Given the description of an element on the screen output the (x, y) to click on. 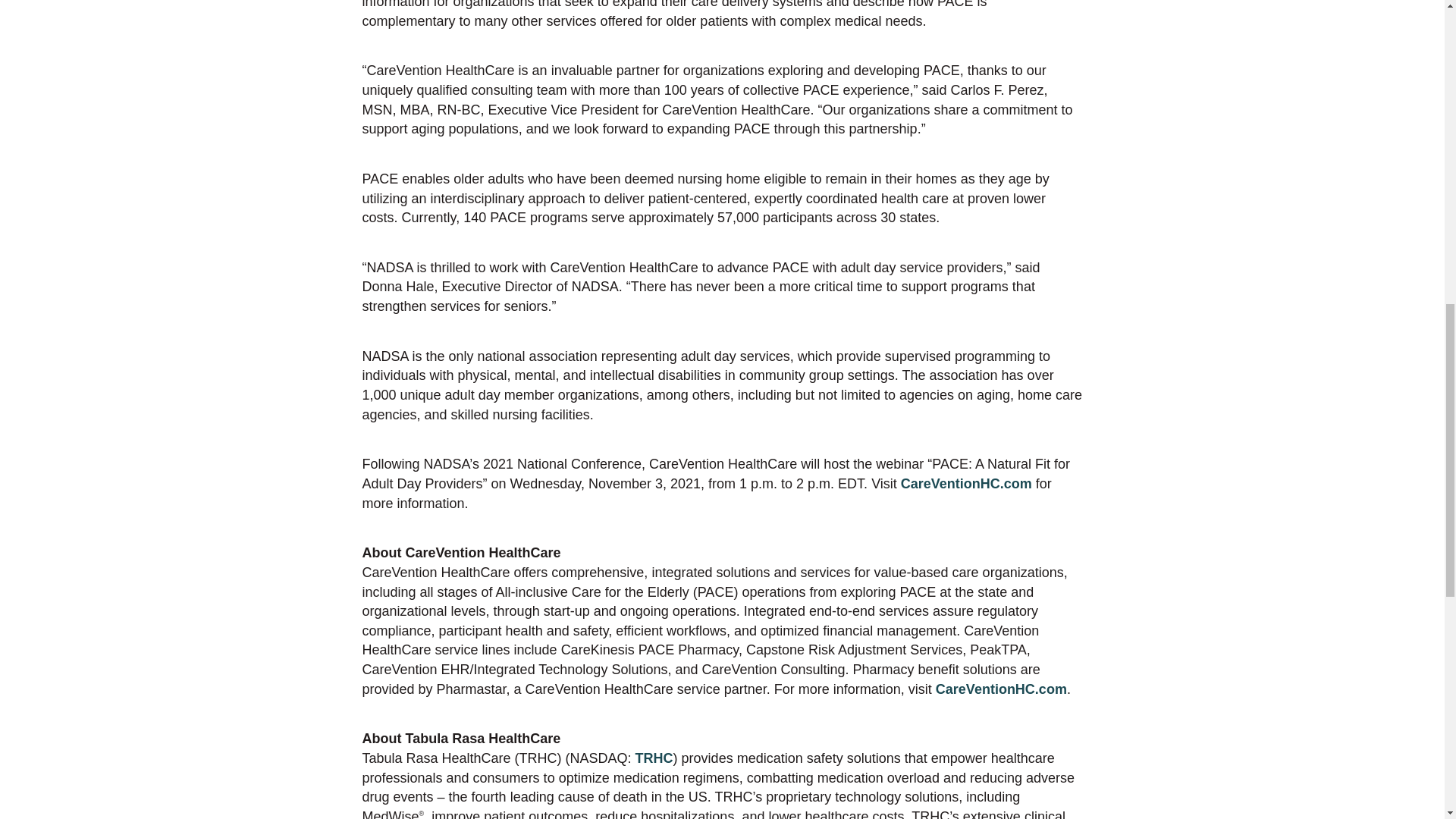
CareVentionHC.com (964, 483)
CareVentionHC.com (1001, 688)
TRHC (653, 758)
